Given the description of an element on the screen output the (x, y) to click on. 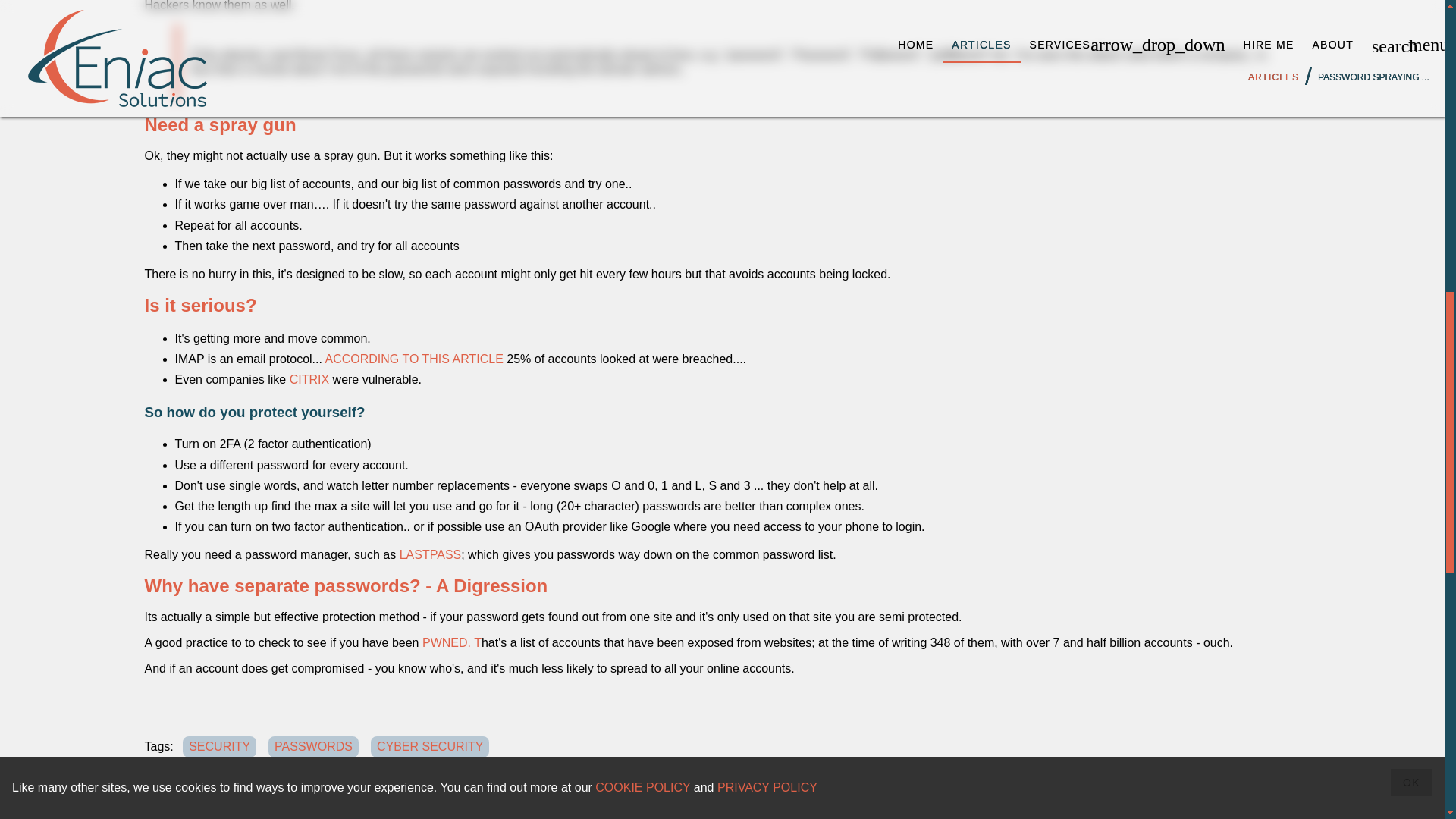
CYBER SECURITY (430, 746)
PASSWORDS (313, 746)
ACCORDING TO THIS ARTICLE (413, 358)
LASTPASS (429, 554)
SECURITY (219, 746)
CITRIX (309, 379)
PWNED. T (451, 642)
